Given the description of an element on the screen output the (x, y) to click on. 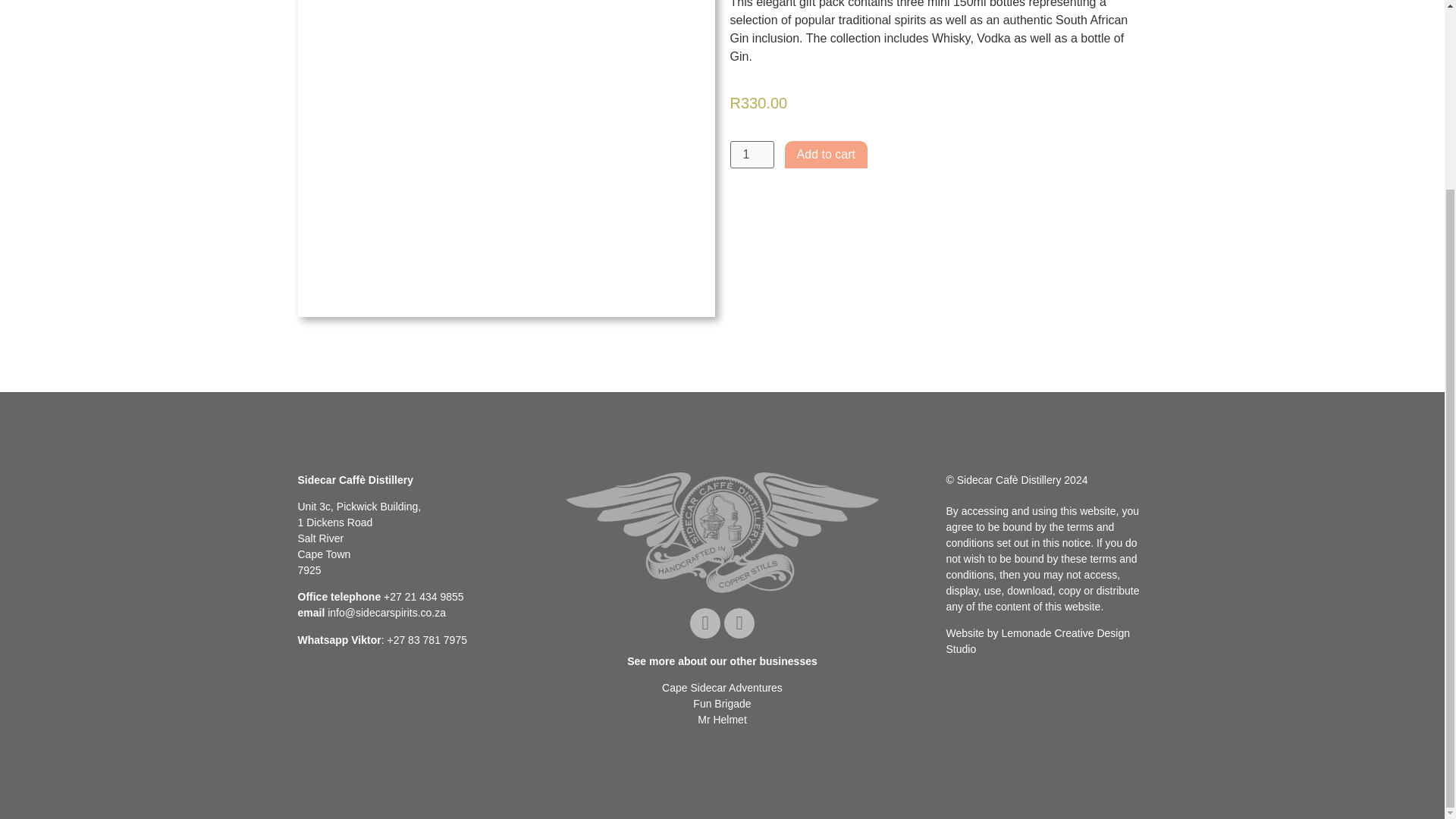
Lemonade Creative Design Studio (1038, 641)
Add to cart (825, 154)
1 (751, 154)
Fun Brigade (722, 703)
Mr Helmet (721, 719)
Cape Sidecar Adventures (722, 687)
